Given the description of an element on the screen output the (x, y) to click on. 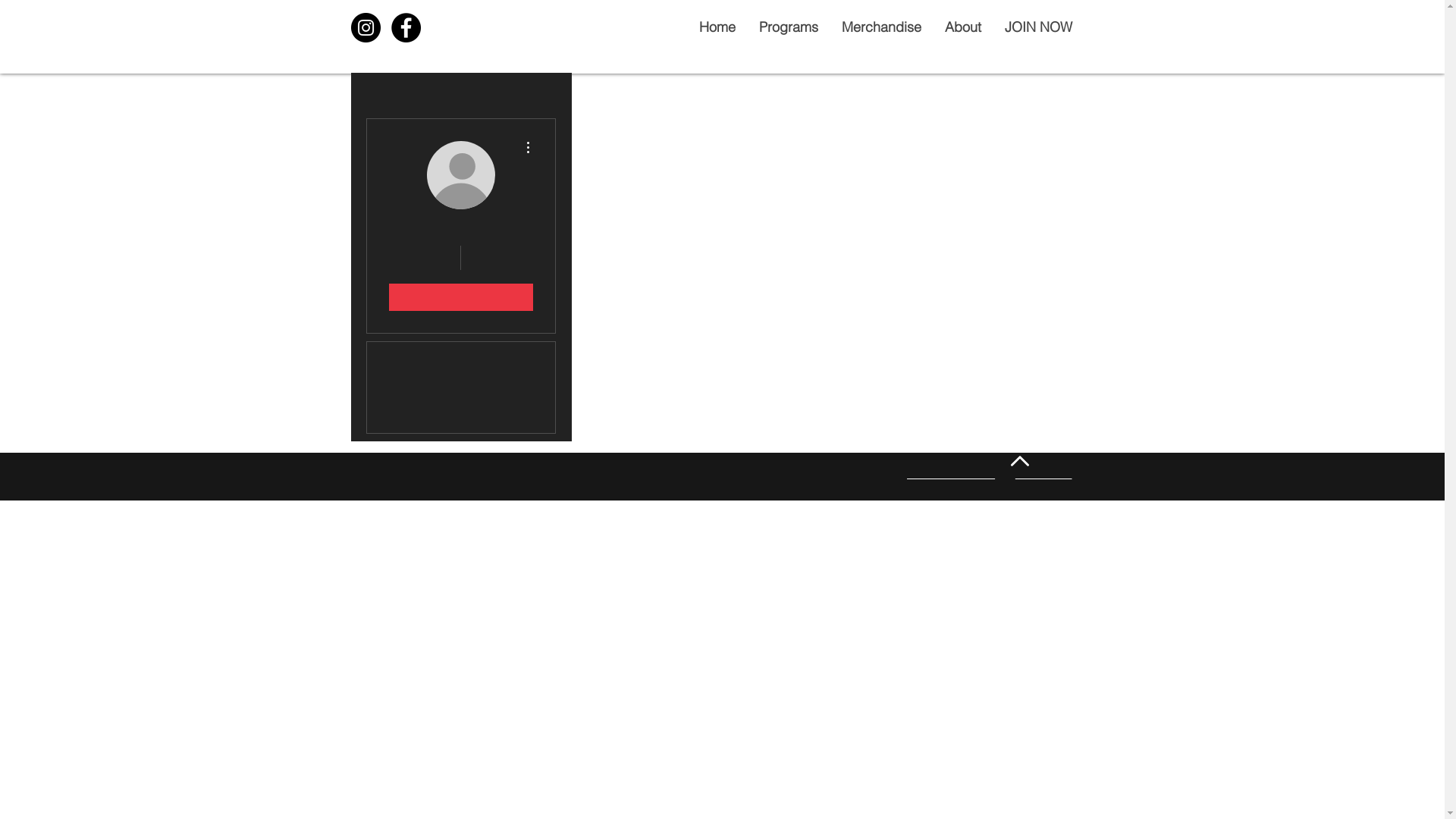
Forum Posts Element type: text (461, 387)
Terms and Conditions Element type: text (950, 474)
About Element type: text (962, 27)
0
Following Element type: text (499, 257)
JOIN NOW Element type: text (1036, 27)
0
Followers Element type: text (421, 257)
Home Element type: text (716, 27)
Privacy Policy Element type: text (1043, 474)
Follow Element type: text (460, 296)
Programs Element type: text (787, 27)
Profile Element type: text (461, 357)
Merchandise Element type: text (880, 27)
Forum Comments Element type: text (461, 417)
